Given the description of an element on the screen output the (x, y) to click on. 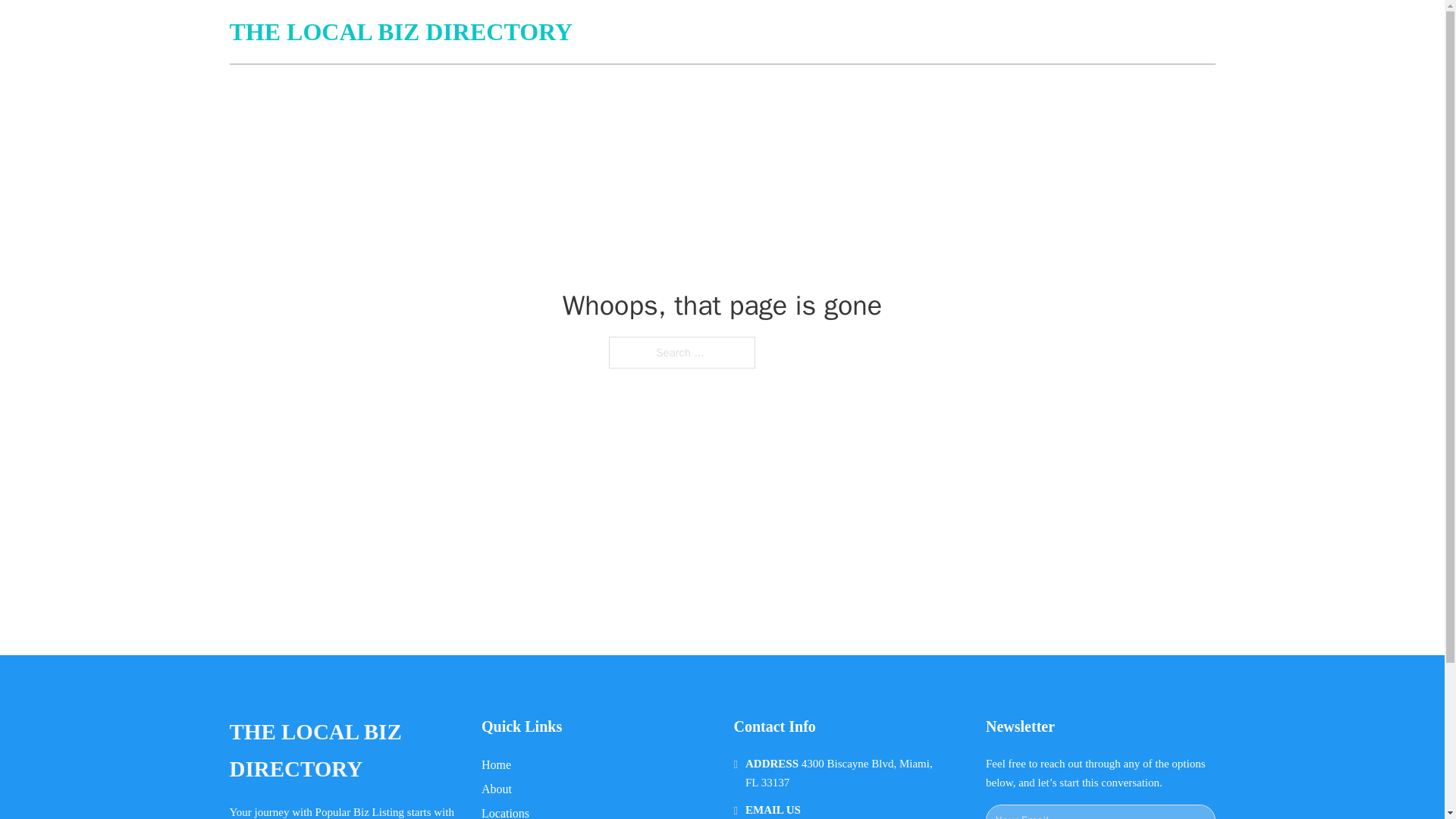
LOCATIONS (1105, 31)
About (496, 788)
THE LOCAL BIZ DIRECTORY (343, 750)
Locations (505, 811)
THE LOCAL BIZ DIRECTORY (400, 31)
Home (496, 764)
HOME (1032, 31)
